Given the description of an element on the screen output the (x, y) to click on. 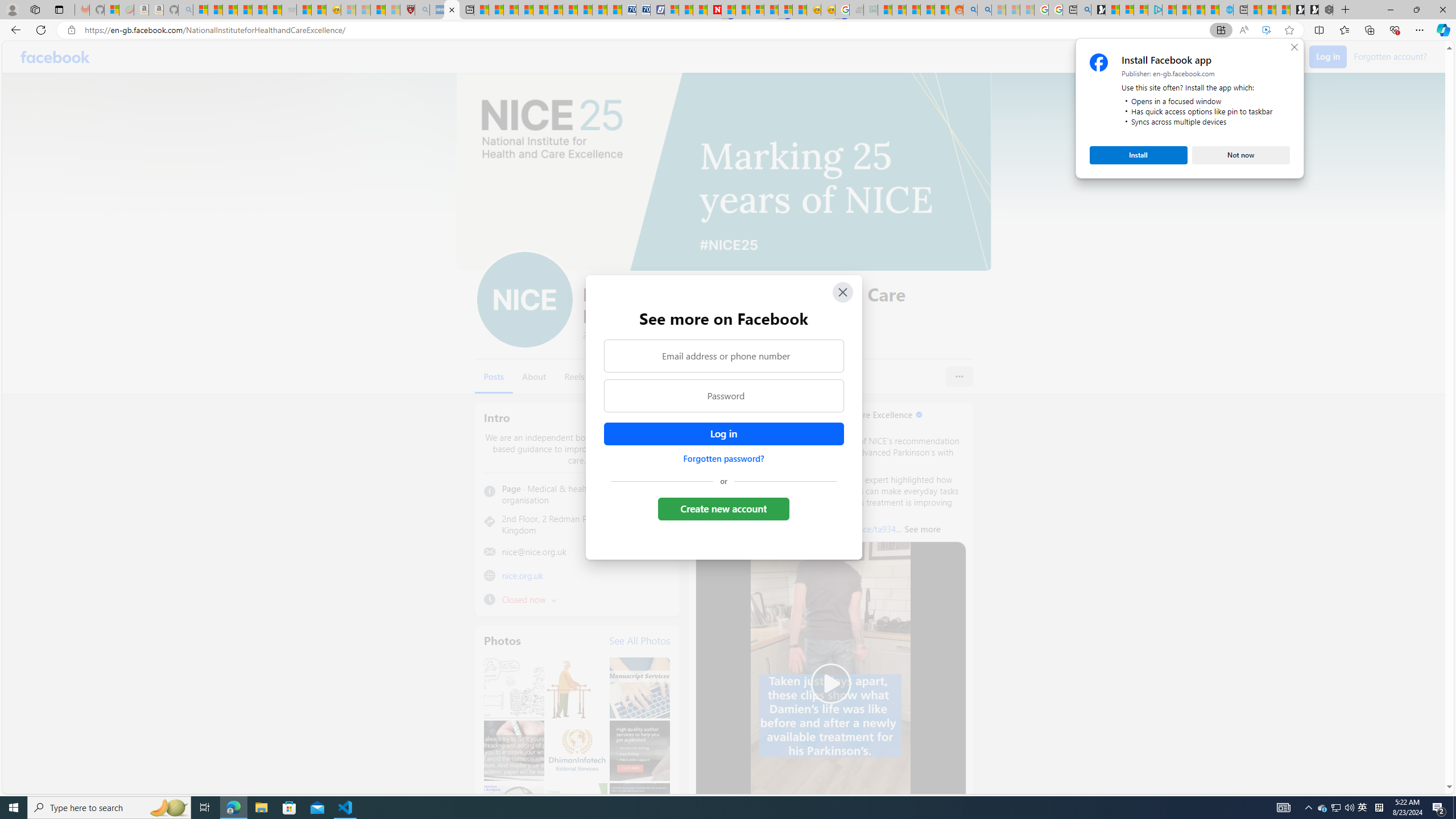
Tray Input Indicator - Chinese (Simplified, China) (1378, 807)
New Report Confirms 2023 Was Record Hot | Watch (259, 9)
User Promoted Notification Area (1336, 807)
